Given the description of an element on the screen output the (x, y) to click on. 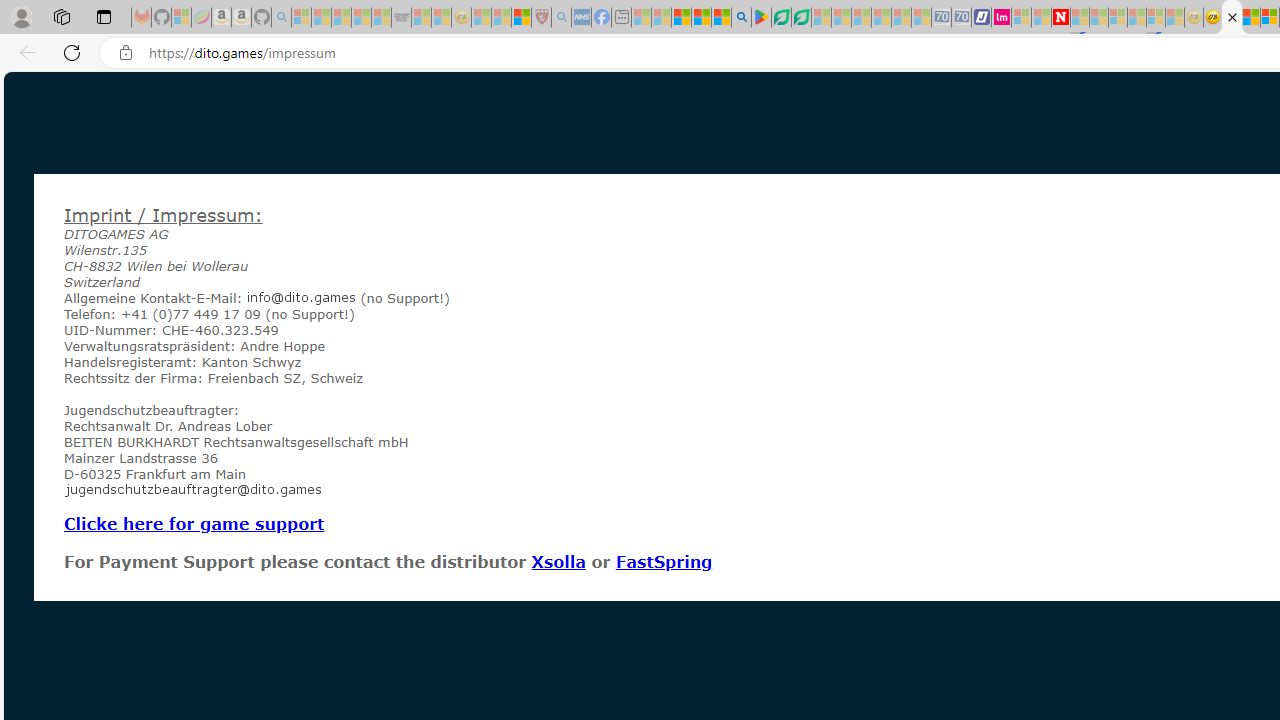
list of asthma inhalers uk - Search - Sleeping (560, 17)
MSNBC - MSN (1250, 17)
FastSpring (663, 561)
google - Search (741, 17)
Microsoft Word - consumer-privacy address update 2.2021 (801, 17)
Recipes - MSN - Sleeping (481, 17)
Xsolla (558, 561)
